Given the description of an element on the screen output the (x, y) to click on. 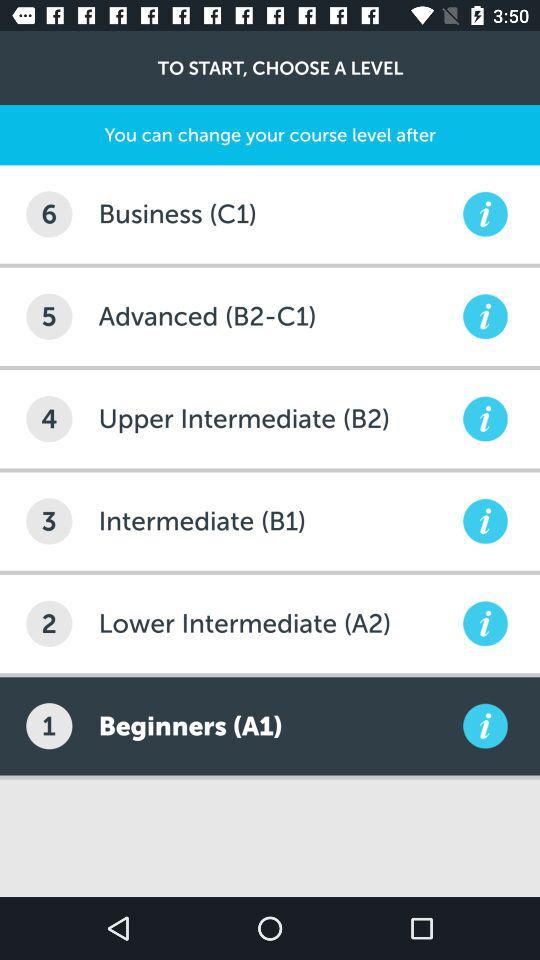
turn off item below 6 icon (49, 316)
